Given the description of an element on the screen output the (x, y) to click on. 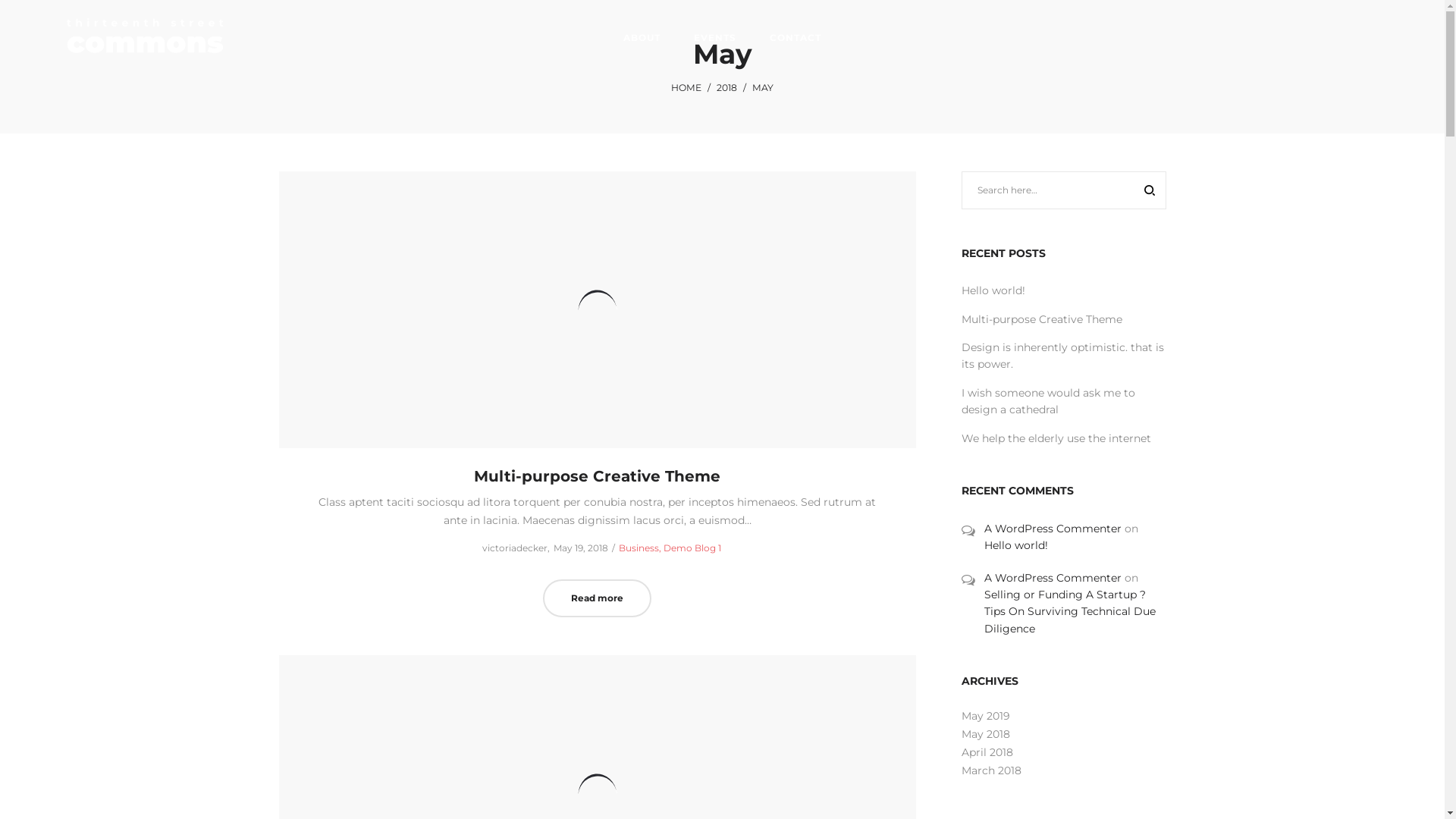
ABOUT Element type: text (641, 37)
We help the elderly use the internet Element type: text (1056, 438)
A WordPress Commenter Element type: text (1052, 577)
Multi-purpose Creative Theme Element type: text (1041, 319)
Business Element type: text (640, 547)
2018 Element type: text (726, 87)
EVENTS Element type: text (714, 37)
Multi-purpose Creative Theme Element type: text (596, 476)
May 2019 Element type: text (985, 715)
by victoriadecker Element type: text (508, 547)
Posted on
May 19, 2018 Element type: text (580, 547)
Design is inherently optimistic. that is its power. Element type: text (1062, 355)
March 2018 Element type: text (991, 770)
Hello world! Element type: text (993, 290)
CONTACT Element type: text (795, 37)
April 2018 Element type: text (987, 752)
Read more Element type: text (596, 598)
A WordPress Commenter Element type: text (1052, 528)
May 2018 Element type: text (985, 733)
HOME Element type: text (686, 87)
Hello world! Element type: text (1016, 545)
Demo Blog 1 Element type: text (691, 547)
Search for: Element type: hover (1063, 190)
I wish someone would ask me to design a cathedral Element type: text (1048, 400)
